Given the description of an element on the screen output the (x, y) to click on. 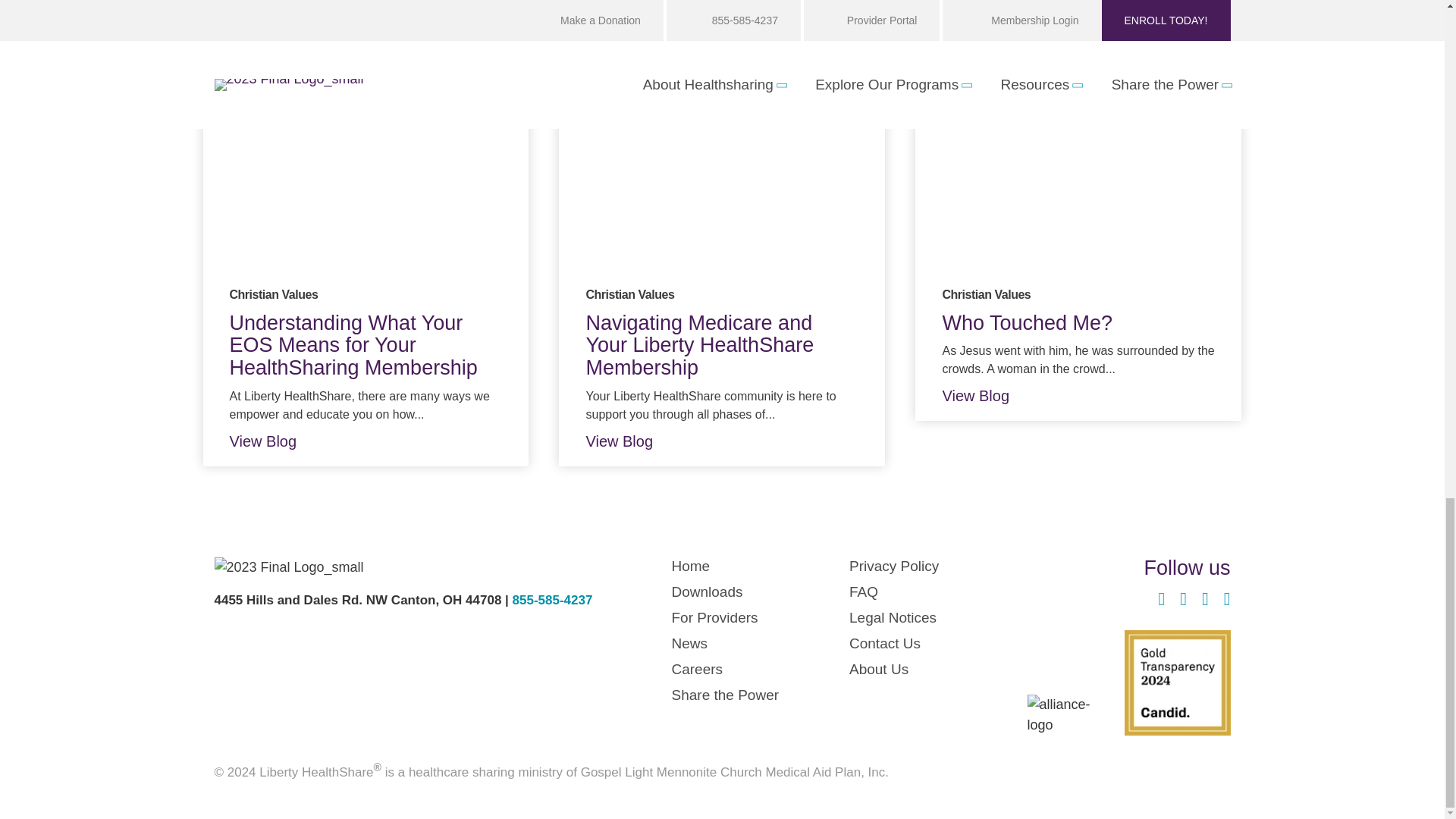
View Blog (274, 441)
Christian Values (272, 294)
